Given the description of an element on the screen output the (x, y) to click on. 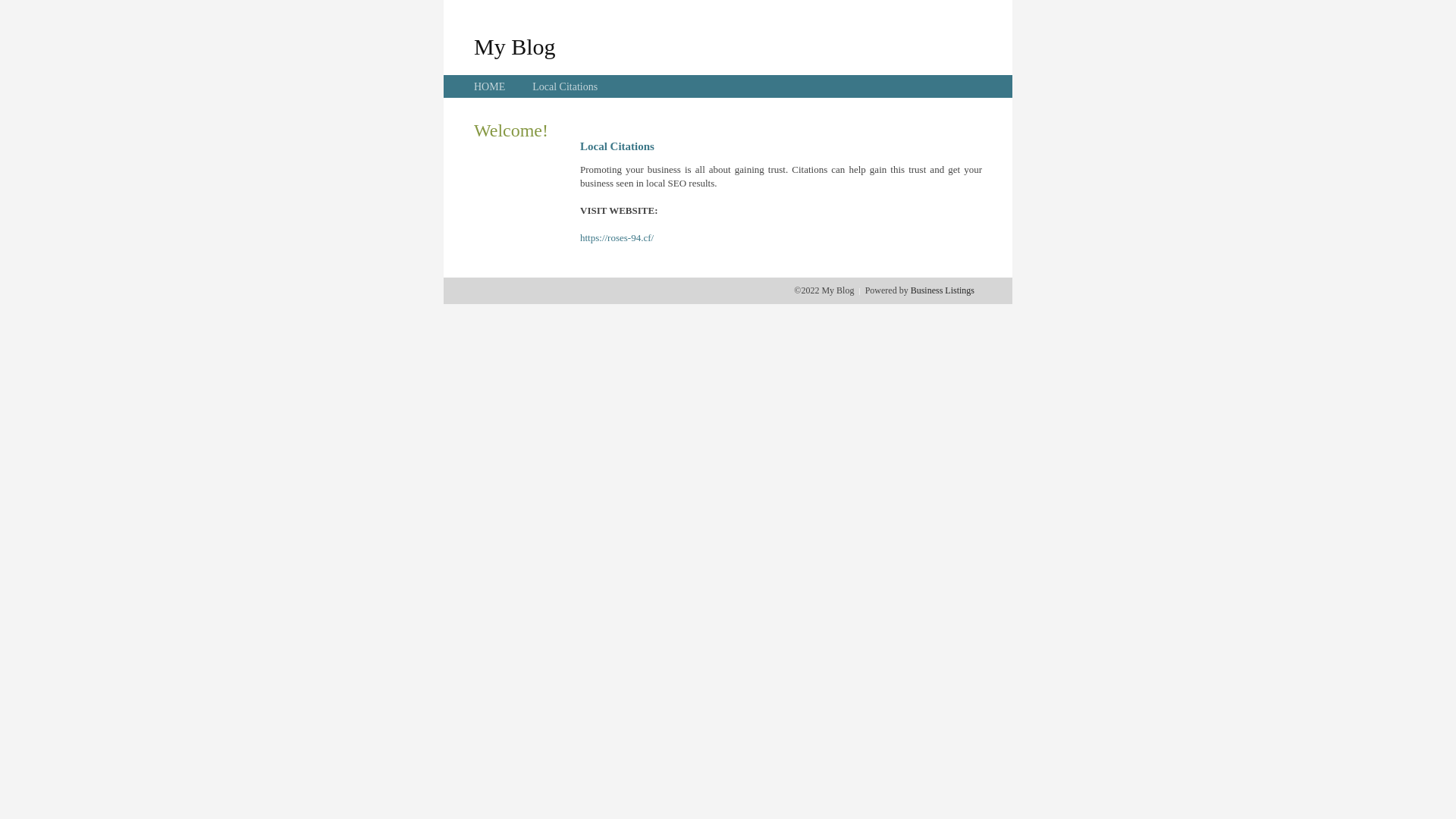
https://roses-94.cf/ Element type: text (616, 237)
Business Listings Element type: text (942, 290)
HOME Element type: text (489, 86)
My Blog Element type: text (514, 46)
Local Citations Element type: text (564, 86)
